Given the description of an element on the screen output the (x, y) to click on. 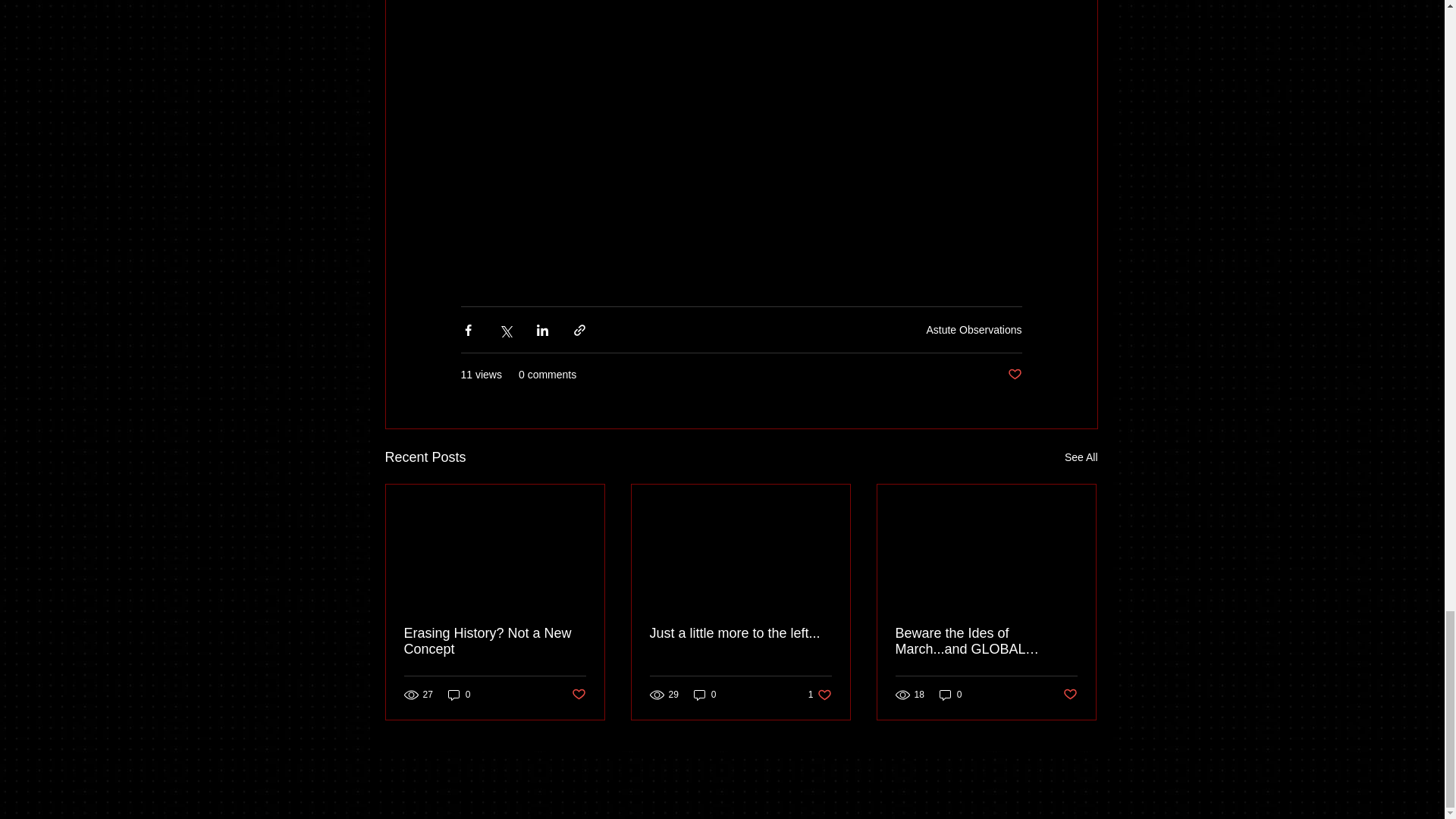
Post not marked as liked (579, 694)
See All (1080, 457)
Just a little more to the left... (740, 633)
Astute Observations (974, 329)
Erasing History? Not a New Concept (494, 641)
Post not marked as liked (819, 694)
0 (1014, 374)
0 (705, 694)
